Given the description of an element on the screen output the (x, y) to click on. 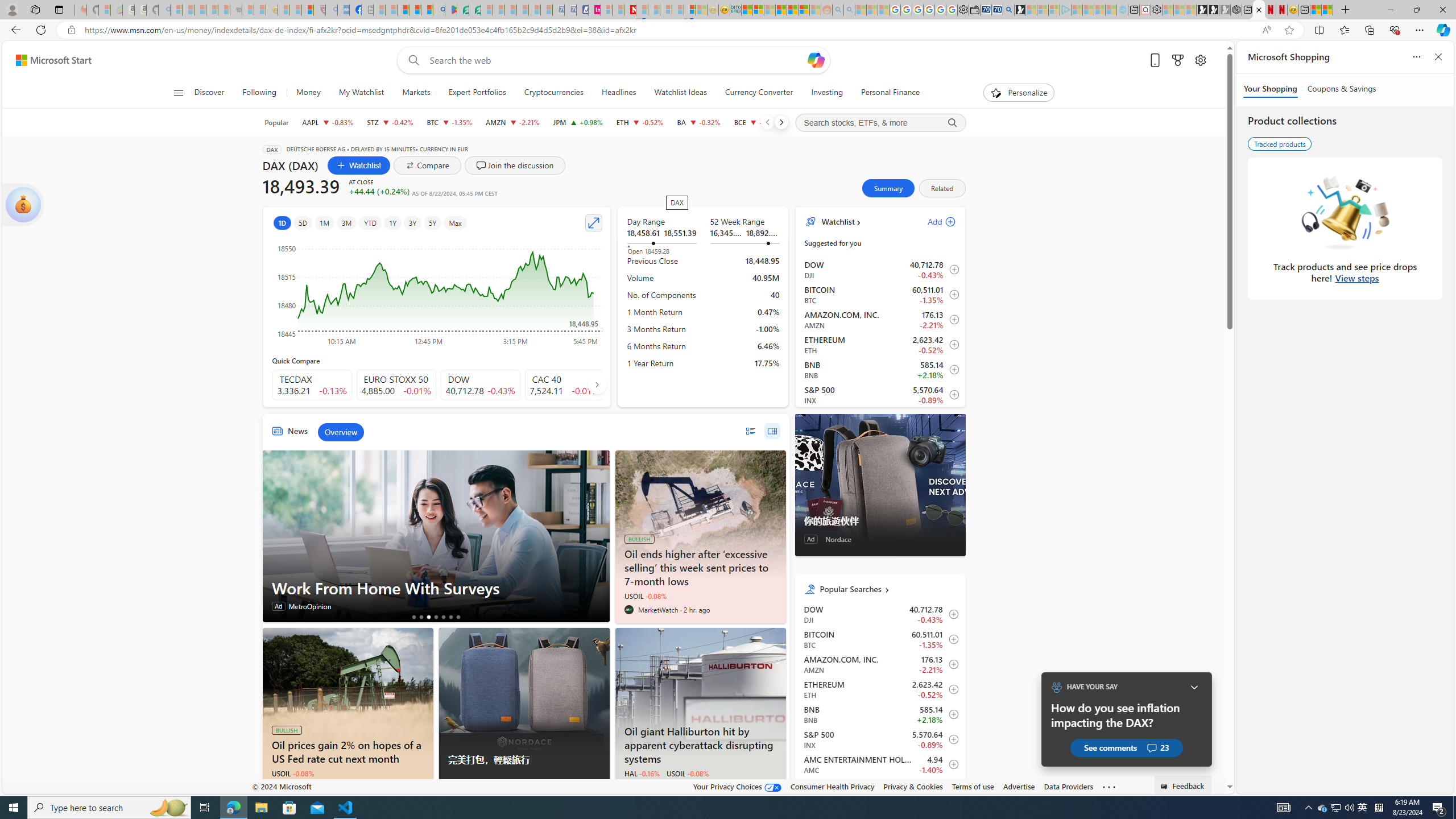
BNB BNB increase 585.14 +12.76 +2.18% item4 (880, 369)
INX S&P 500 decrease 5,570.64 -50.21 -0.89% item5 (880, 394)
My Watchlist (361, 92)
Headlines (618, 92)
Work From Home With Surveys (434, 588)
Bing Real Estate - Home sales and rental listings (1008, 9)
